Given the description of an element on the screen output the (x, y) to click on. 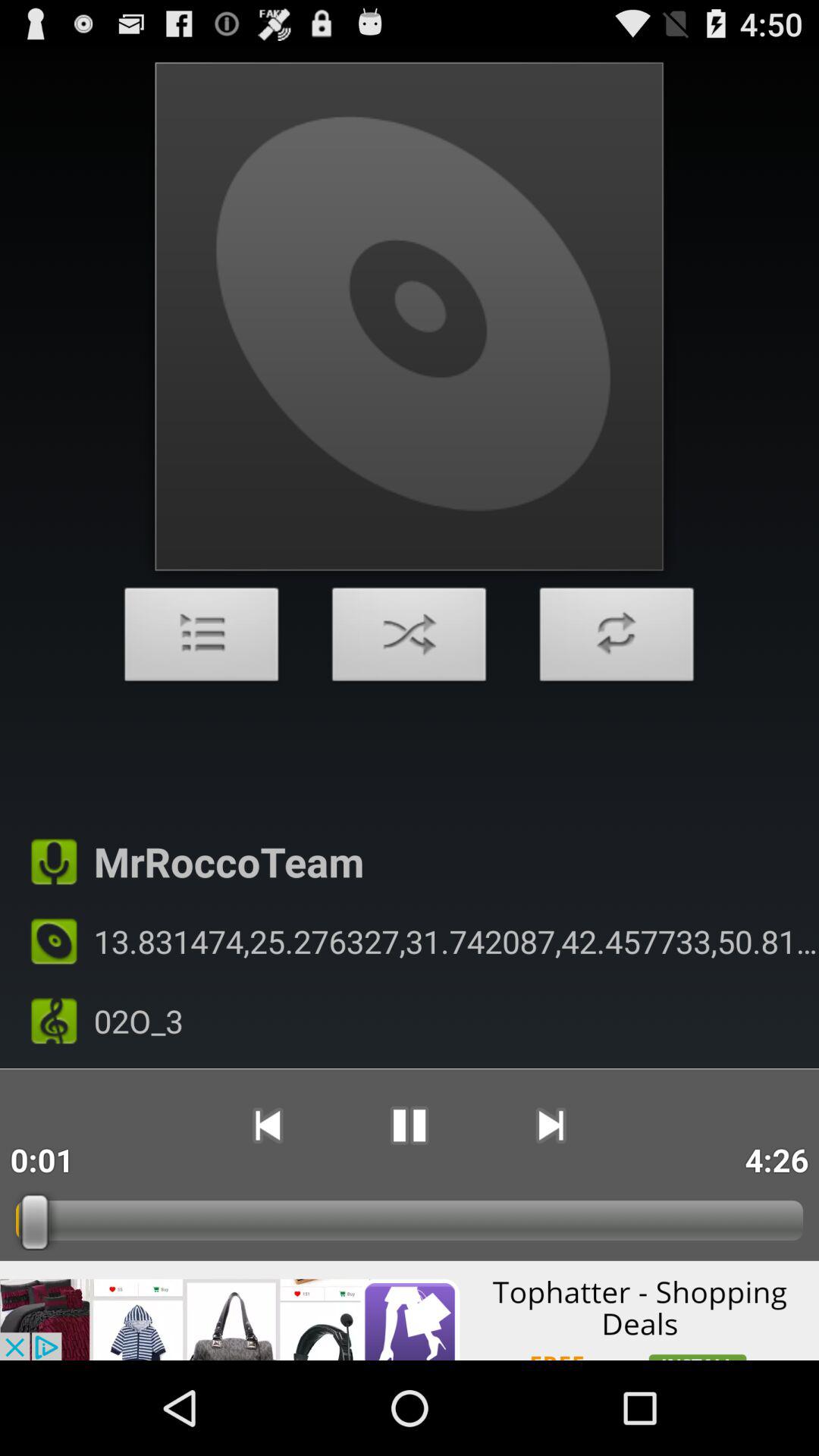
shuffle order of audio (409, 638)
